Given the description of an element on the screen output the (x, y) to click on. 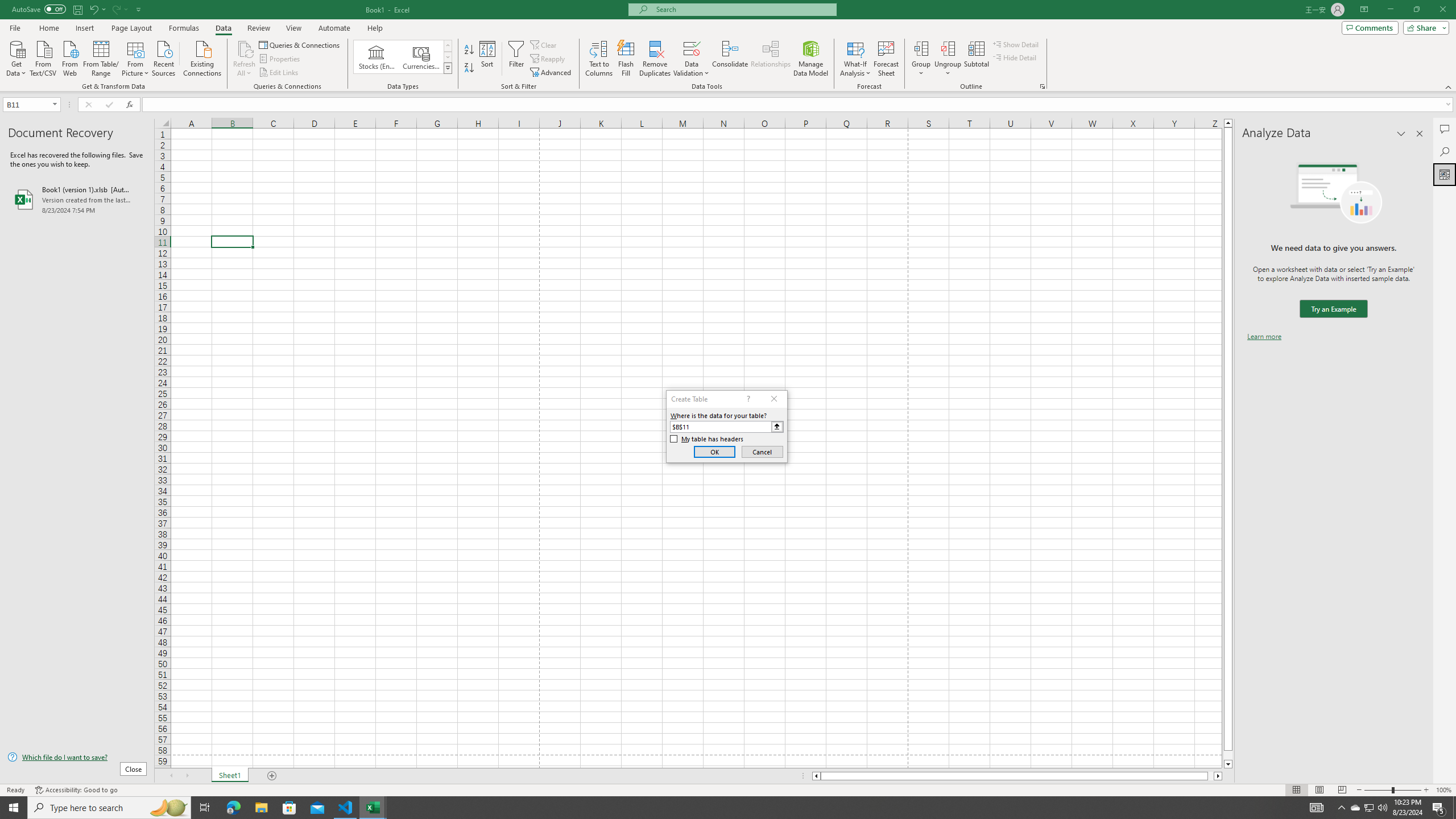
Consolidate... (729, 58)
